Given the description of an element on the screen output the (x, y) to click on. 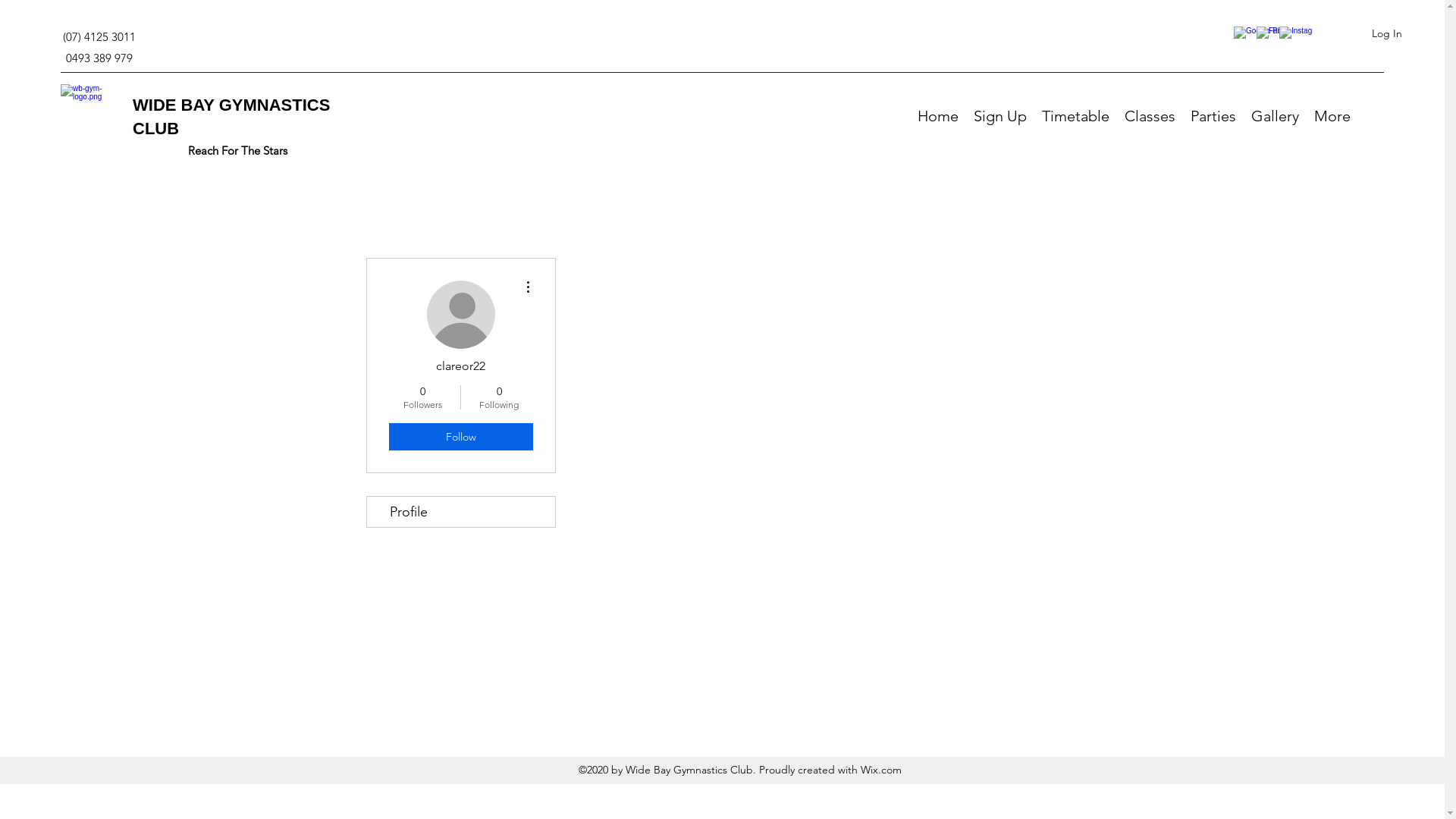
WIDE BAY GYMNASTICS CLUB Element type: text (230, 116)
Gallery Element type: text (1274, 114)
Classes Element type: text (1150, 114)
Parties Element type: text (1213, 114)
0
Followers Element type: text (421, 397)
Profile Element type: text (461, 511)
Home Element type: text (938, 114)
Sign Up Element type: text (1000, 114)
Timetable Element type: text (1075, 114)
0
Following Element type: text (499, 397)
Follow Element type: text (460, 436)
Log In Element type: text (1386, 33)
